Given the description of an element on the screen output the (x, y) to click on. 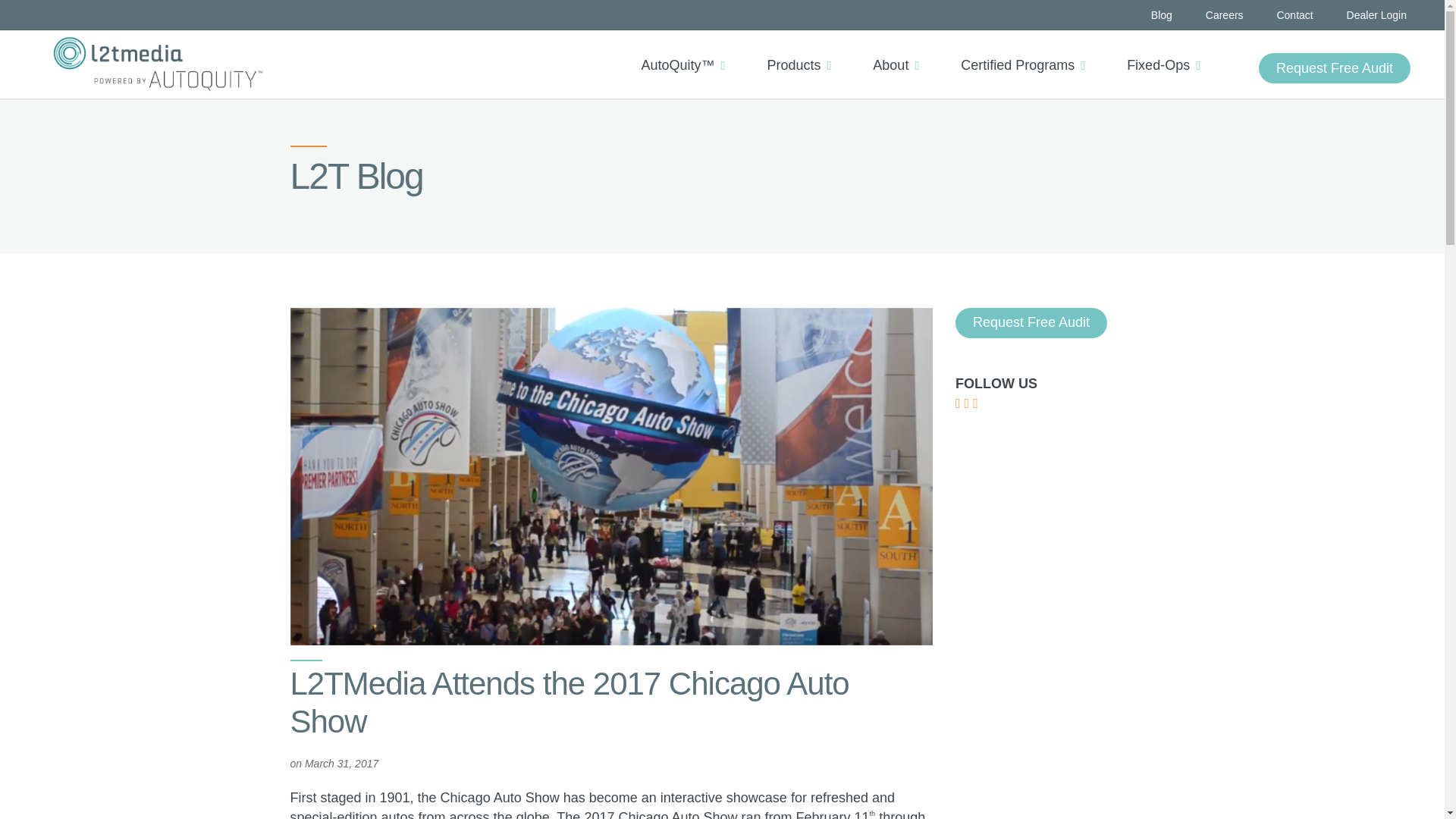
Request Free Audit (1334, 68)
Fixed-Ops (1169, 52)
Certified Programs (1028, 52)
Contact (1294, 15)
Careers (1224, 15)
About (900, 52)
Request Free Audit (1334, 68)
Dealer Login (1376, 15)
Blog (1161, 15)
Products (804, 52)
